Given the description of an element on the screen output the (x, y) to click on. 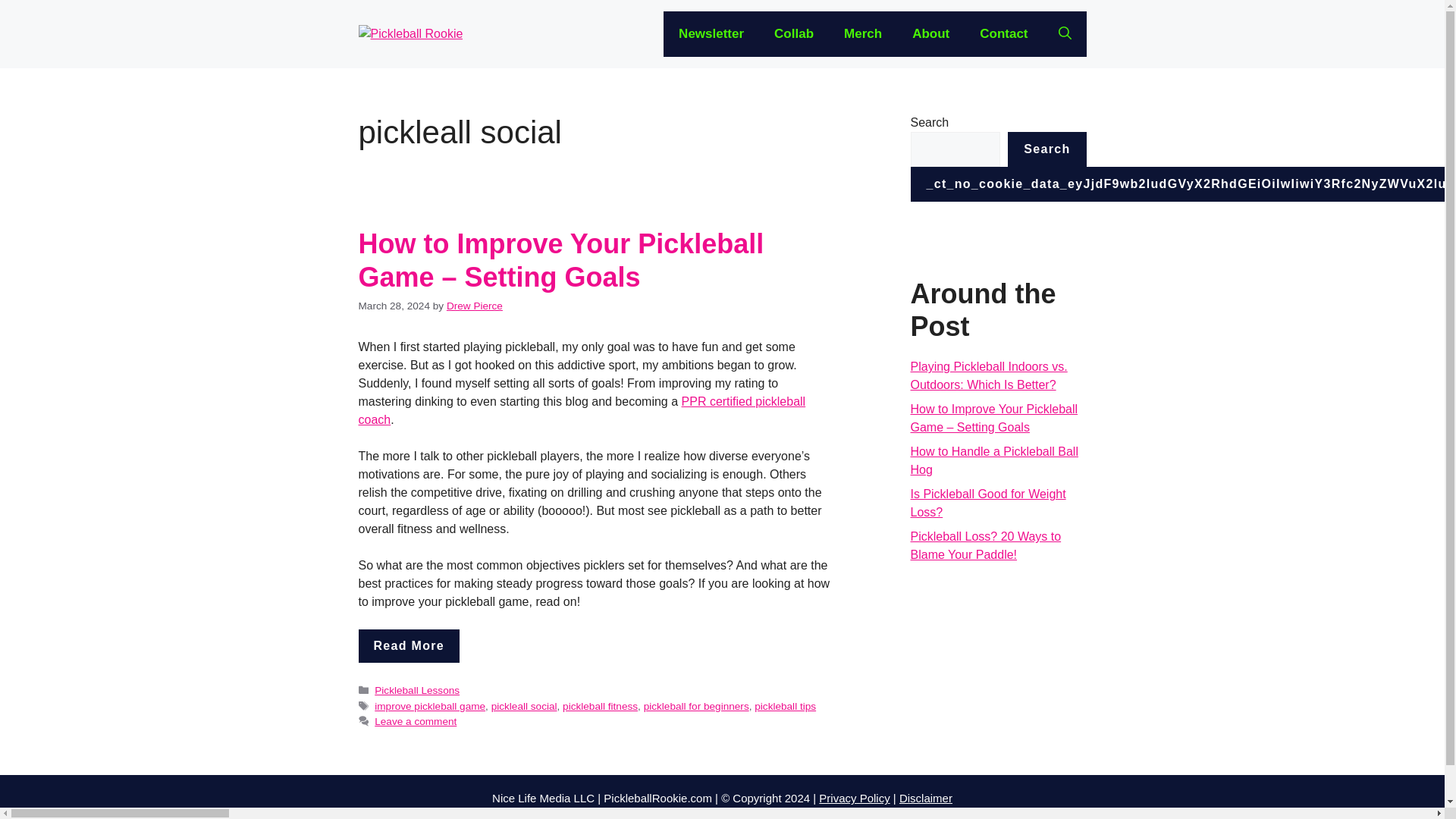
Newsletter (710, 33)
pickleball for beginners (696, 706)
Pickleball Loss? 20 Ways to Blame Your Paddle! (985, 545)
Merch (862, 33)
improve pickleball game (429, 706)
Privacy Policy (853, 797)
View all posts by Drew Pierce (474, 306)
Read More (409, 645)
Contact (1002, 33)
pickleball fitness (599, 706)
Pickleball Lessons (417, 690)
Playing Pickleball Indoors vs. Outdoors: Which Is Better? (988, 375)
Is Pickleball Good for Weight Loss? (987, 502)
pickleall social (524, 706)
Search (1046, 149)
